Given the description of an element on the screen output the (x, y) to click on. 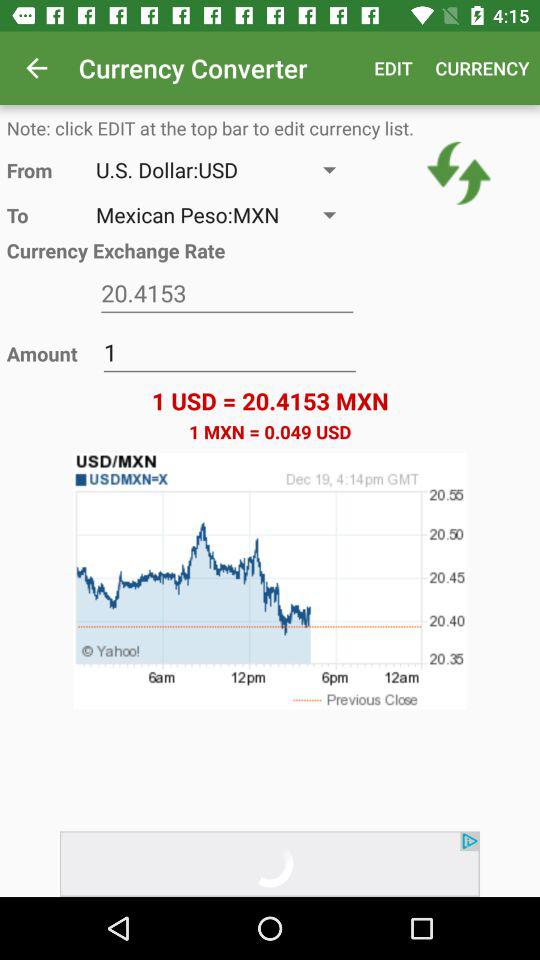
launch item above 1 icon (227, 293)
